Given the description of an element on the screen output the (x, y) to click on. 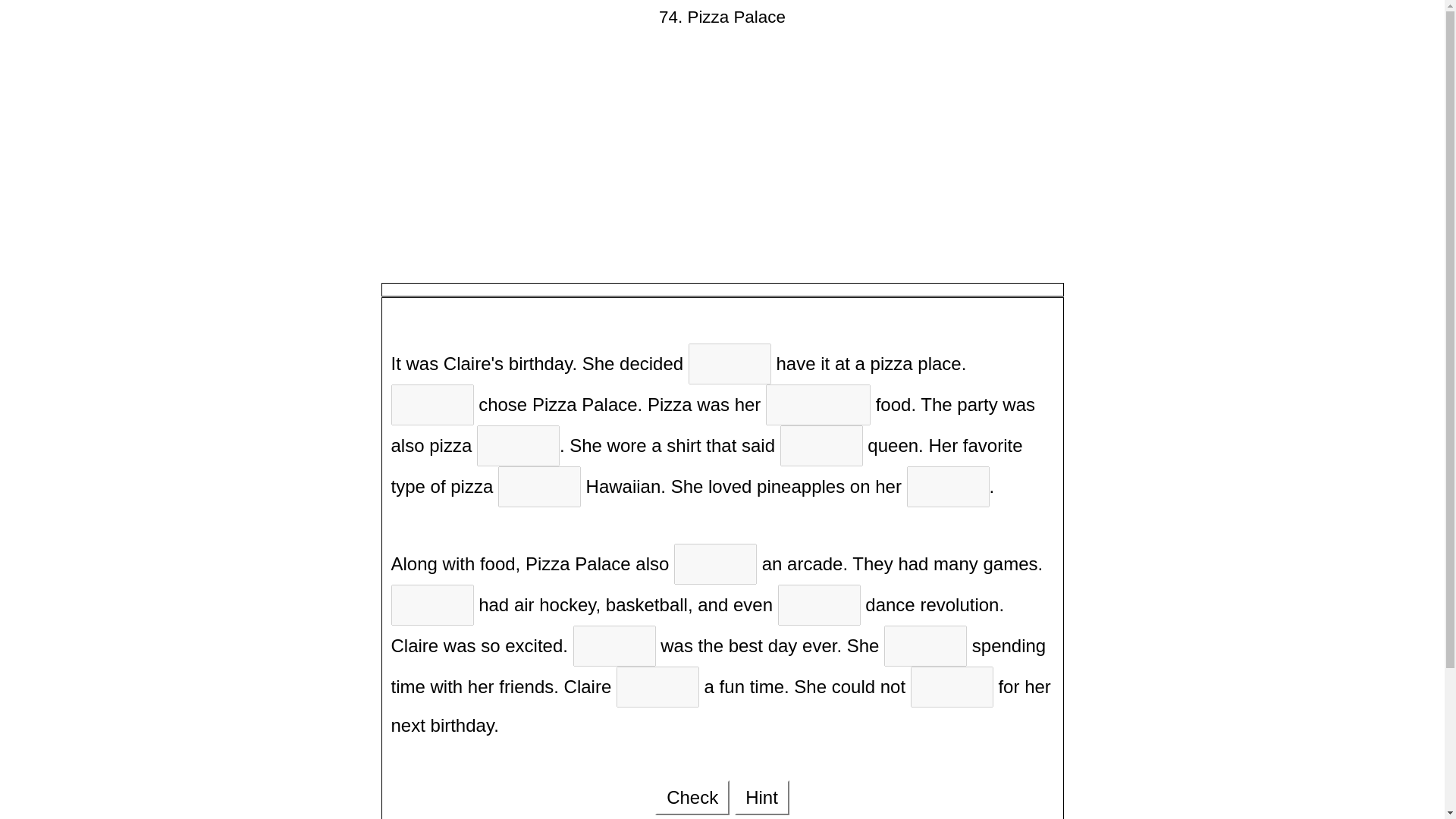
 Check  (692, 797)
 Hint  (762, 797)
